Given the description of an element on the screen output the (x, y) to click on. 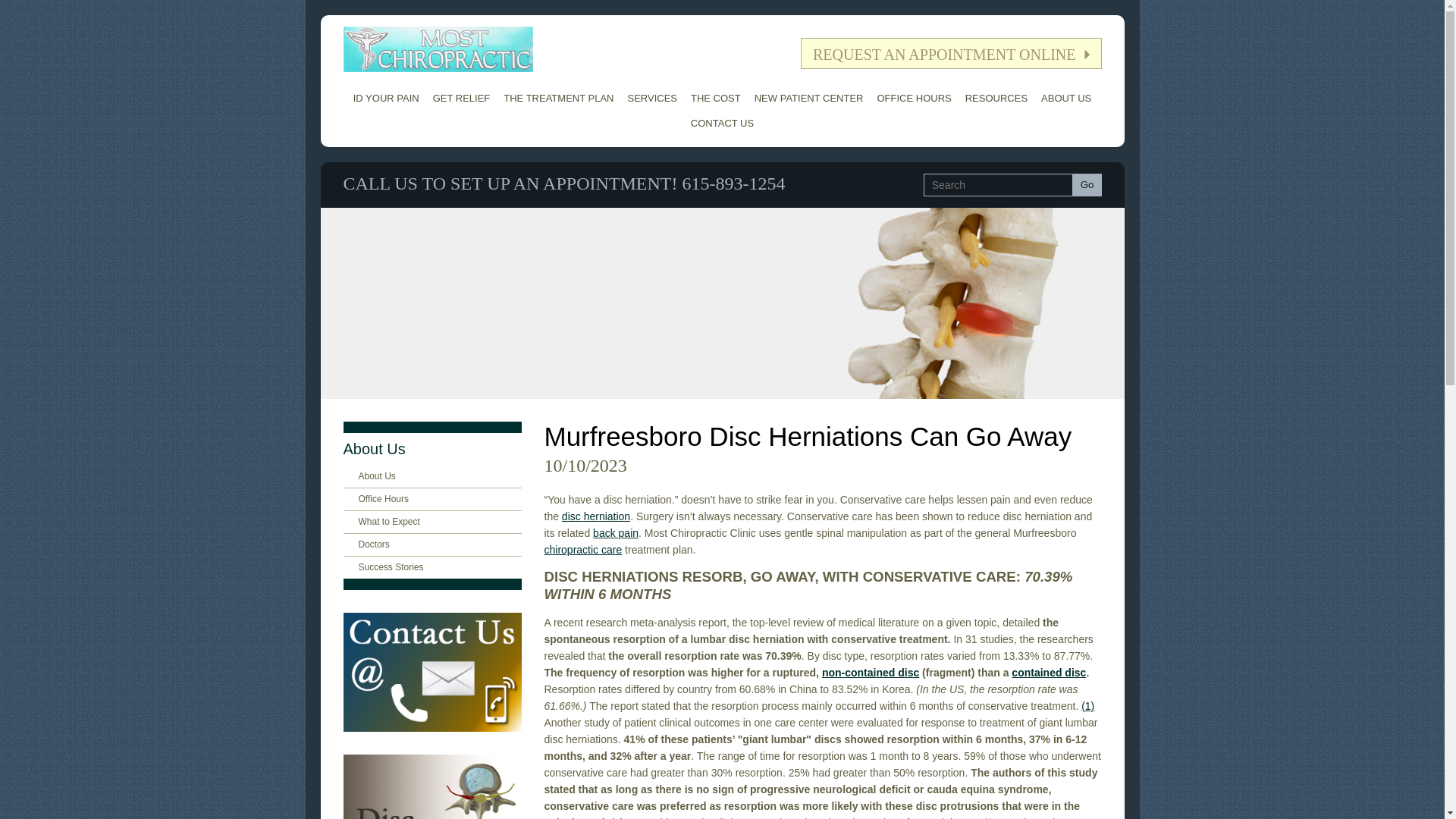
THE COST (716, 97)
SERVICES (652, 97)
Go (1087, 184)
contact-us-colors.jpg (431, 672)
ID YOUR PAIN (386, 97)
Most Chiropractic Clinic (437, 49)
NEW PATIENT CENTER (809, 97)
THE TREATMENT PLAN (558, 97)
disc-herniation-widget (431, 786)
GET RELIEF (461, 97)
REQUEST AN APPOINTMENT ONLINE (951, 52)
